Given the description of an element on the screen output the (x, y) to click on. 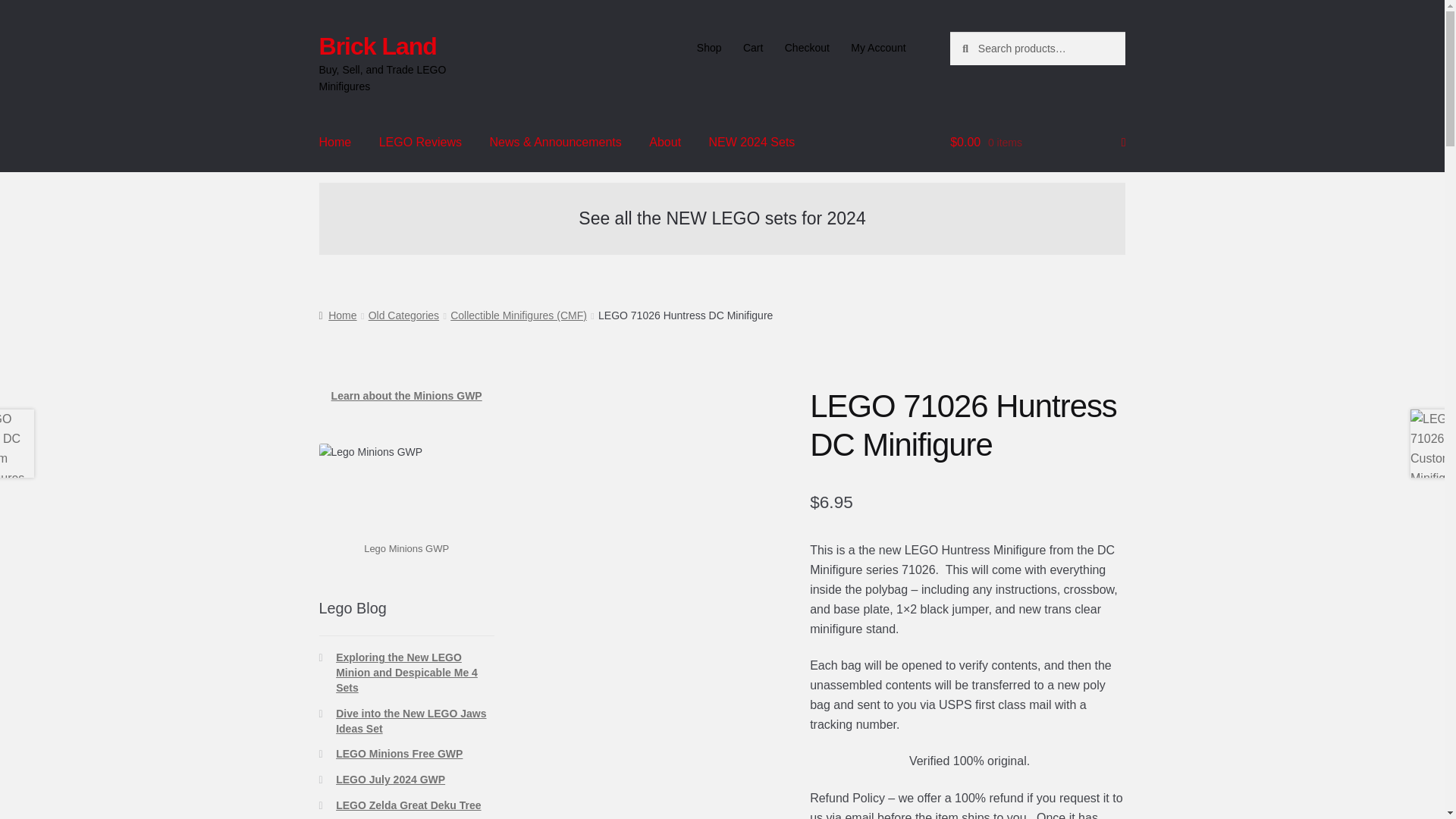
Checkout (806, 47)
See all the NEW LEGO sets for 2024 (721, 218)
Home (337, 315)
My Account (878, 47)
Brick Land (377, 45)
LEGO Reviews (420, 142)
Old Categories (403, 315)
Home (335, 142)
View your shopping cart (1037, 142)
